Given the description of an element on the screen output the (x, y) to click on. 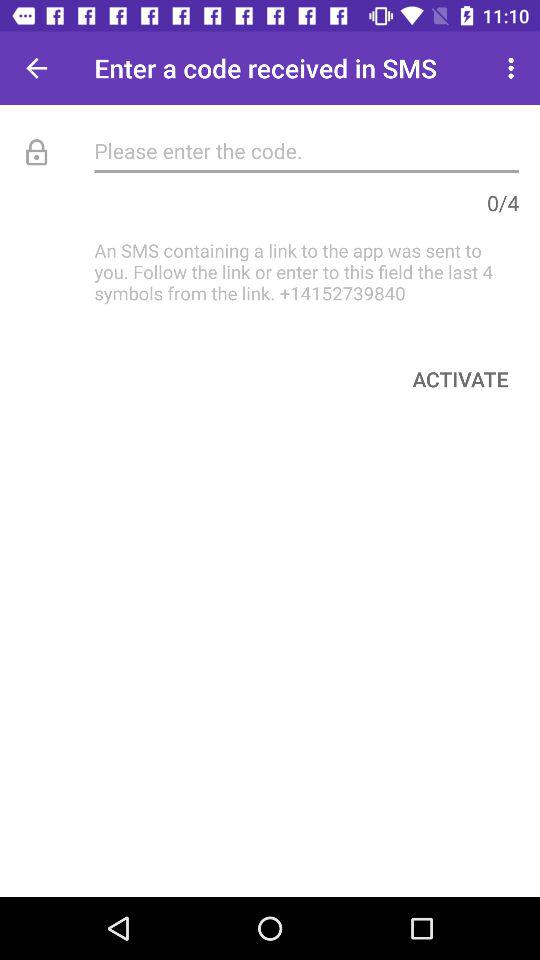
launch icon to the right of enter a code (513, 67)
